Given the description of an element on the screen output the (x, y) to click on. 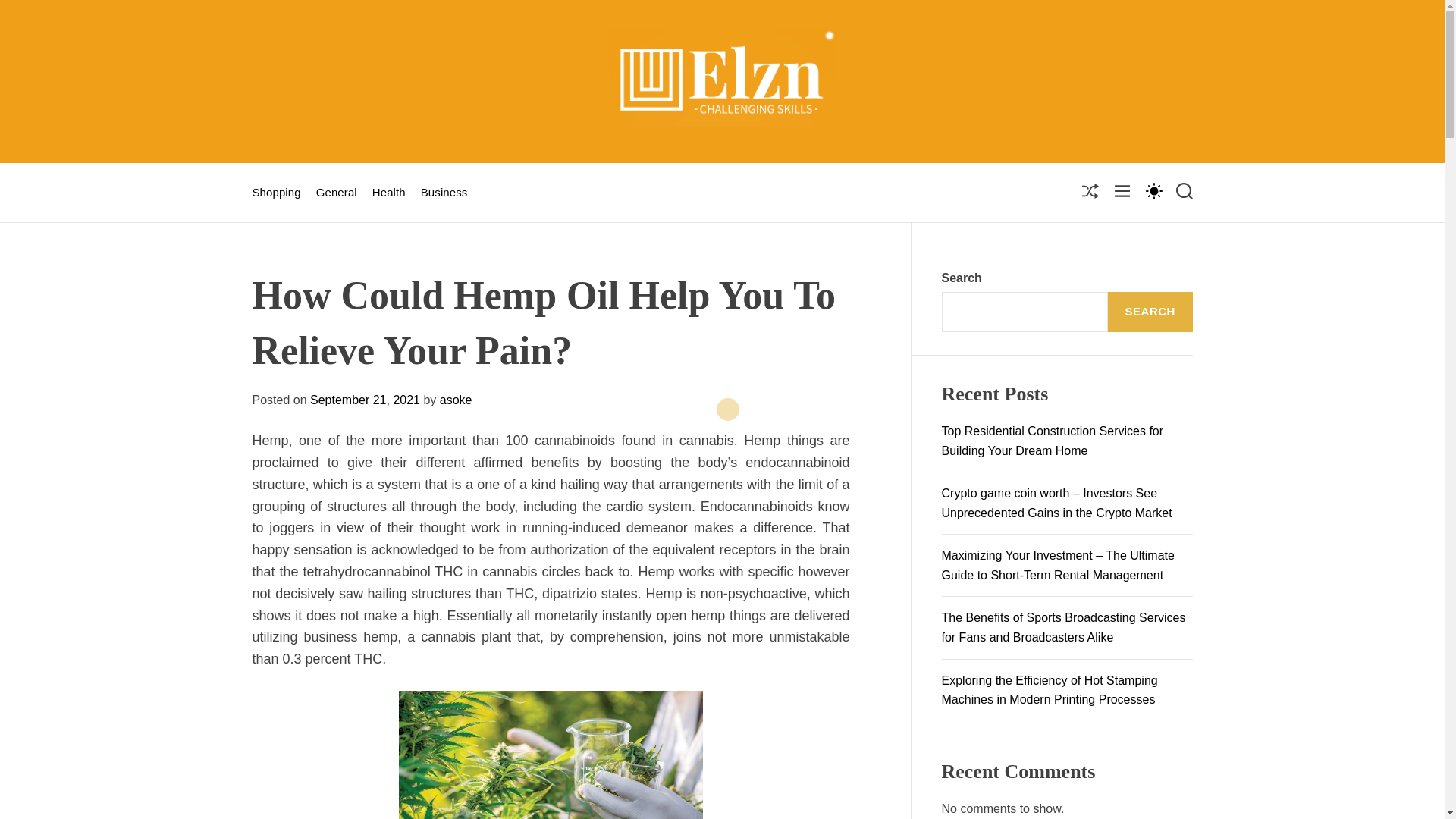
SEARCH (1150, 311)
Business (443, 192)
Shopping (275, 192)
Health (389, 192)
September 21, 2021 (365, 399)
SWITCH COLOR MODE (1152, 190)
General (335, 192)
asoke (455, 399)
